Given the description of an element on the screen output the (x, y) to click on. 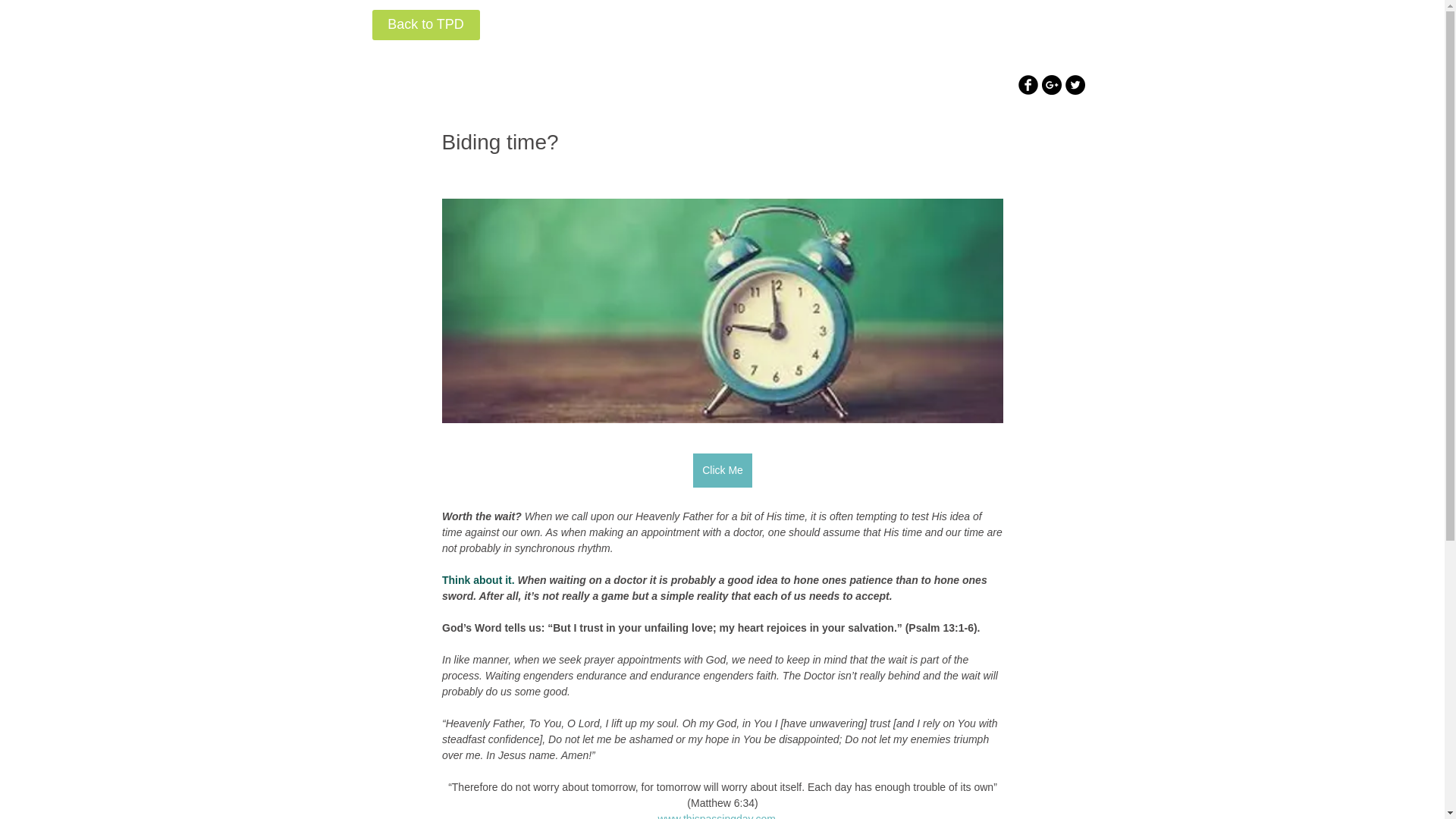
Click Me (722, 455)
Click Me (722, 470)
www.thispassingday.com (716, 803)
www.thispassingday.com (716, 816)
